Given the description of an element on the screen output the (x, y) to click on. 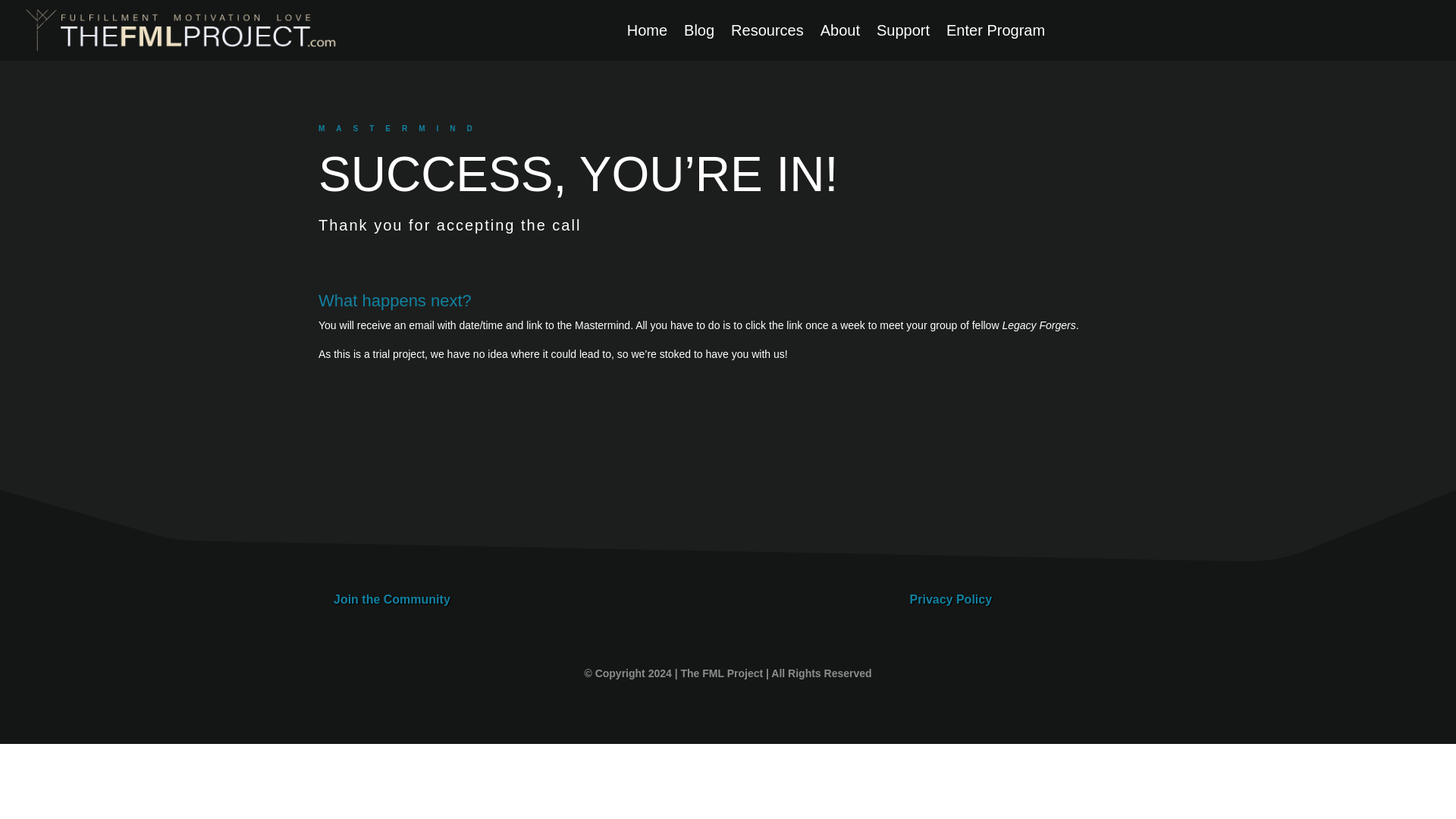
Privacy Policy (951, 599)
Support (903, 32)
Join the Community (391, 599)
About (840, 32)
Enter Program (995, 32)
Resources (766, 32)
Home (646, 32)
Join the Tribe (391, 599)
Privacy Policy (951, 599)
Blog (699, 32)
